Given the description of an element on the screen output the (x, y) to click on. 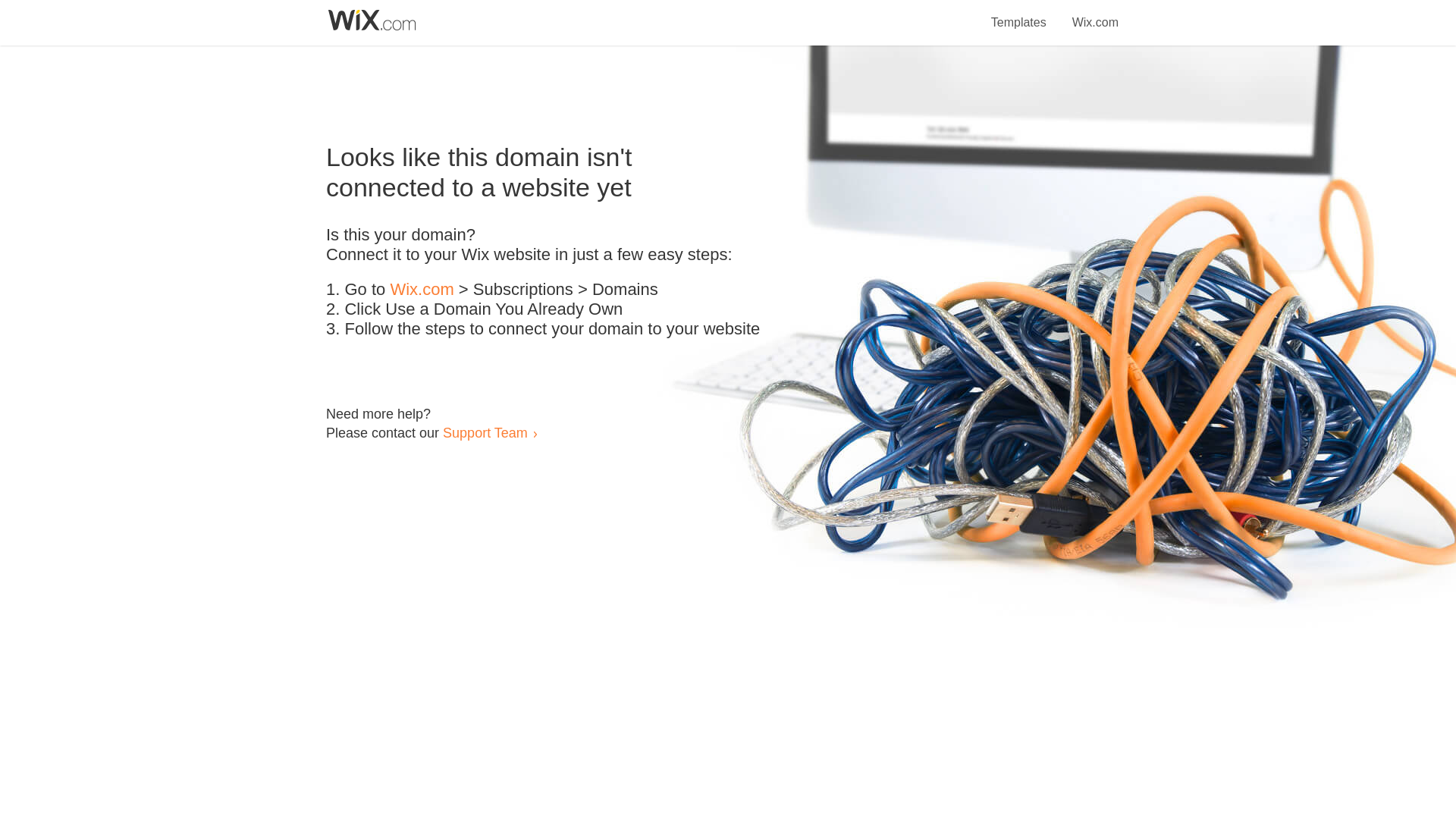
Support Team (484, 432)
Wix.com (421, 289)
Wix.com (1095, 14)
Templates (1018, 14)
